Given the description of an element on the screen output the (x, y) to click on. 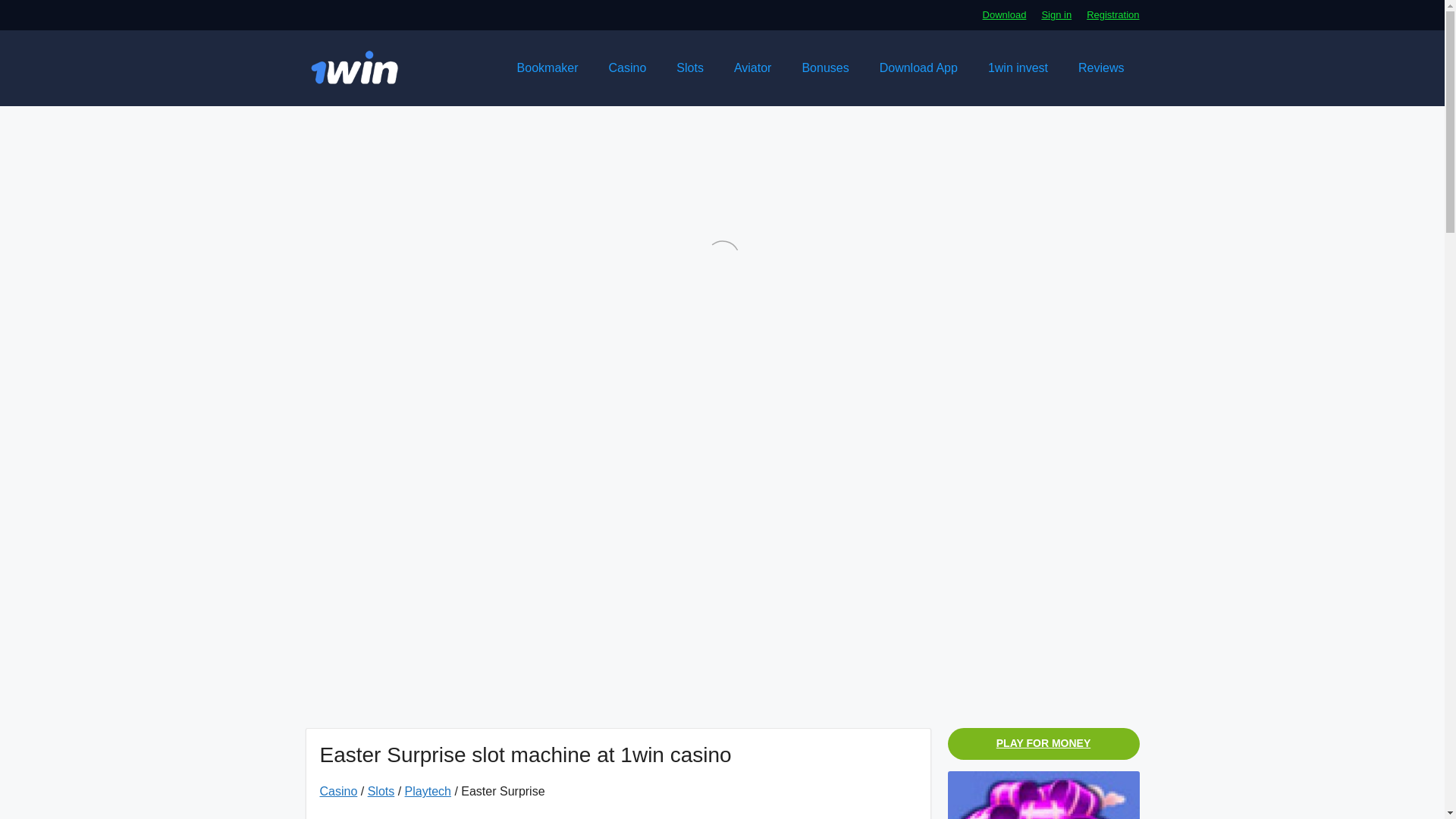
Slots (690, 67)
1win invest (1017, 67)
PLAY FOR MONEY (1043, 744)
Casino (339, 790)
Download (1004, 14)
Bookmaker (548, 67)
Bonuses (824, 67)
Registration (1112, 14)
Playtech (427, 790)
Slots (381, 790)
